Given the description of an element on the screen output the (x, y) to click on. 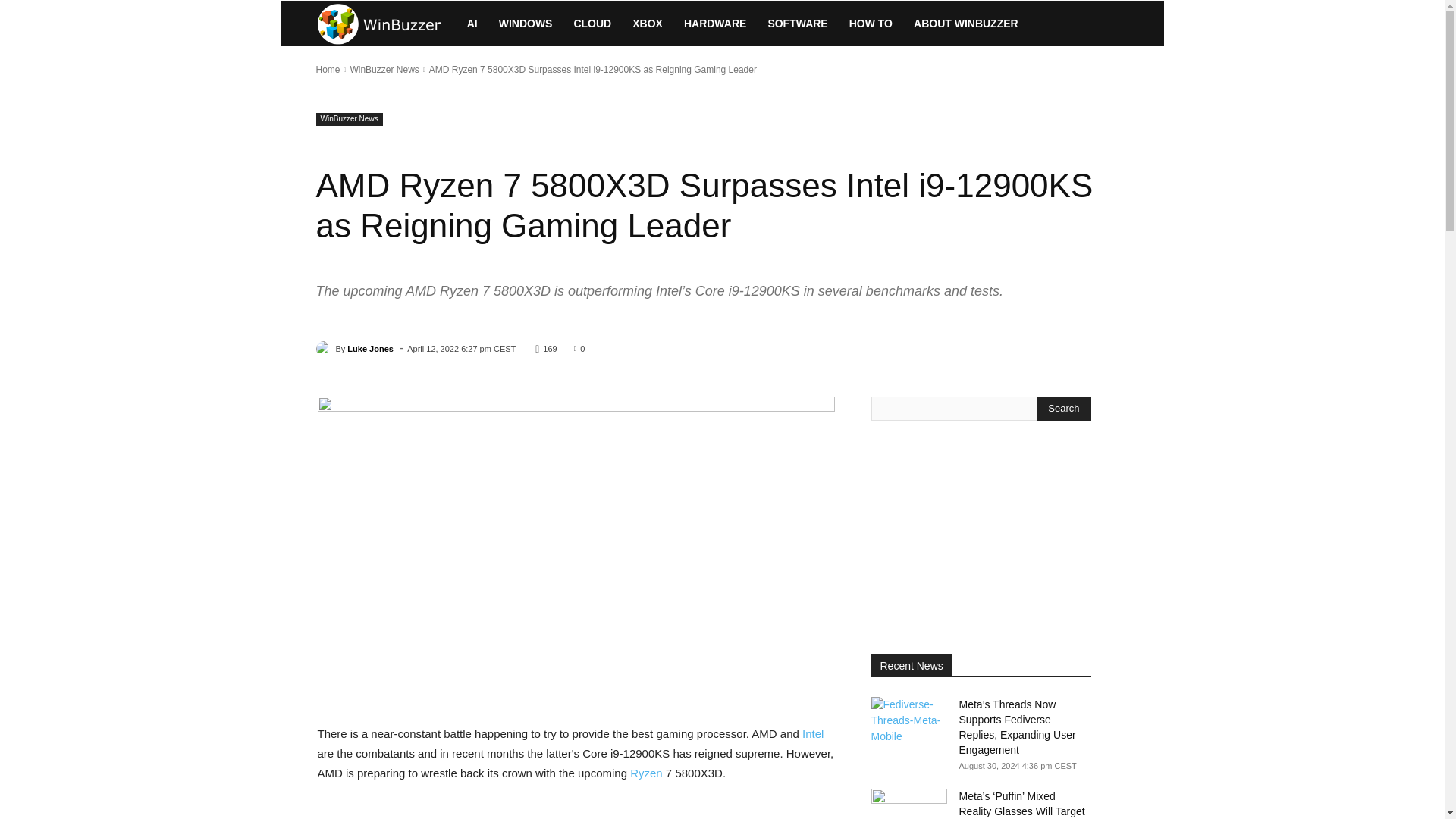
Luke Jones (324, 348)
View all posts in WinBuzzer News (384, 69)
Posts tagged with Ryzen (646, 772)
Posts tagged with Intel (813, 733)
Search (1063, 408)
